Given the description of an element on the screen output the (x, y) to click on. 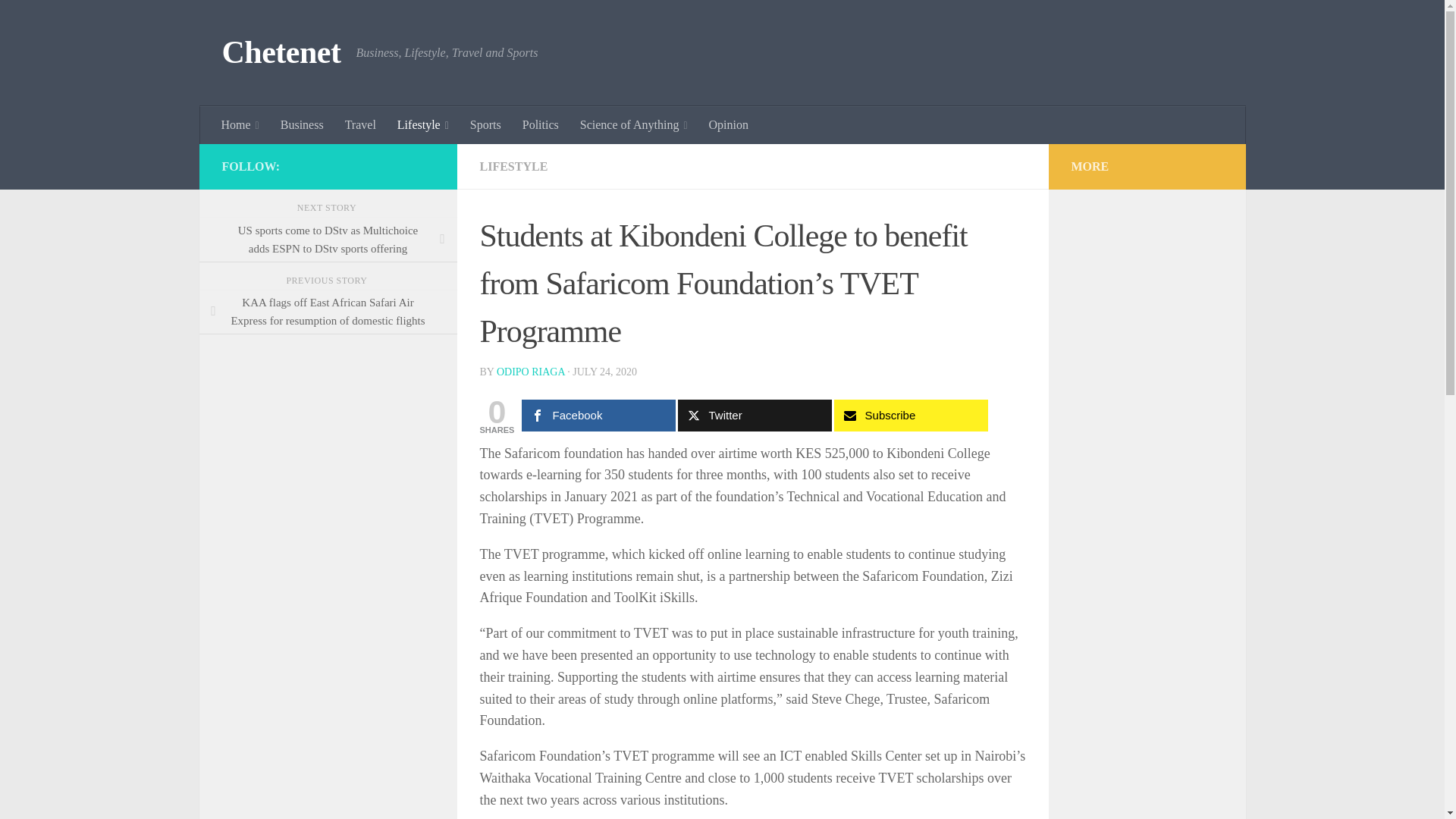
Chetenet (280, 53)
Sports (486, 125)
LIFESTYLE (513, 165)
Business (301, 125)
Facebook (598, 415)
Lifestyle (423, 125)
Posts by Odipo Riaga (530, 371)
Subscribe (911, 415)
Skip to content (59, 20)
Opinion (728, 125)
Politics (540, 125)
Travel (360, 125)
ODIPO RIAGA (530, 371)
Science of Anything (633, 125)
Home (240, 125)
